Given the description of an element on the screen output the (x, y) to click on. 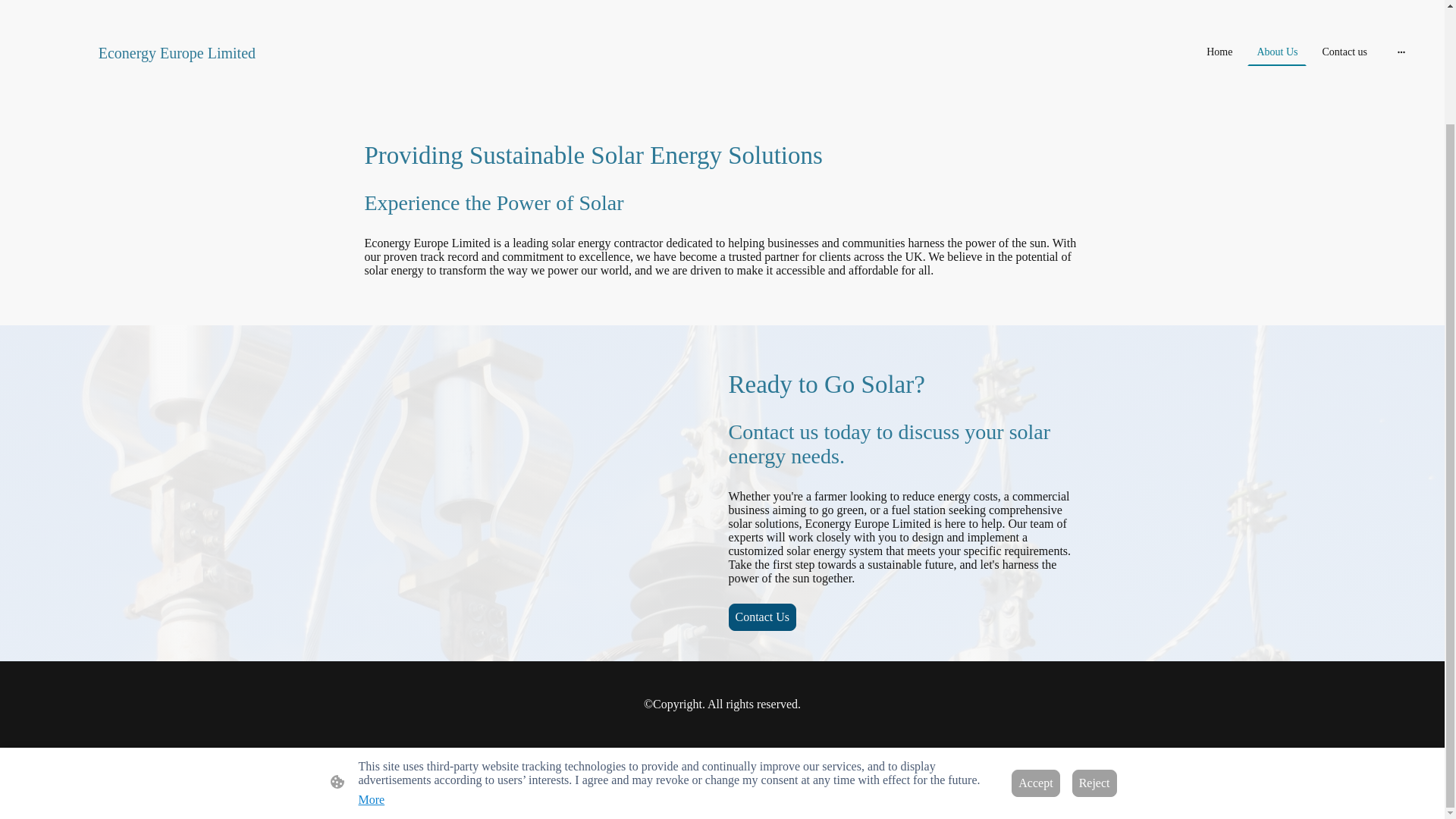
More (371, 664)
Contact Us (762, 616)
Accept (1035, 647)
Reject (1093, 647)
